Given the description of an element on the screen output the (x, y) to click on. 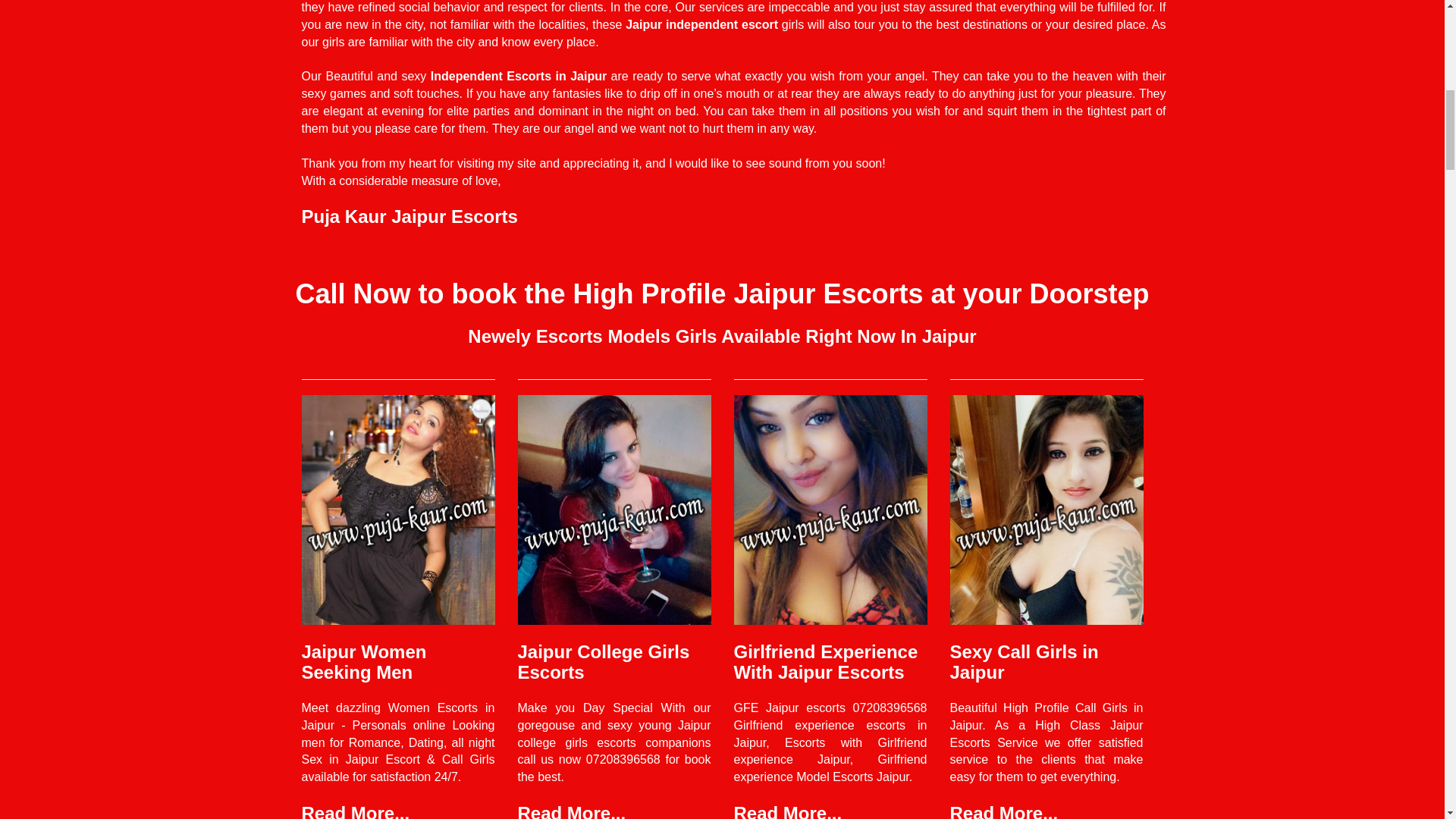
Read More... (355, 811)
Jaipur independent escort (701, 24)
Read More... (788, 811)
Call Now (352, 293)
Read More... (1003, 811)
Read More... (571, 811)
